Given the description of an element on the screen output the (x, y) to click on. 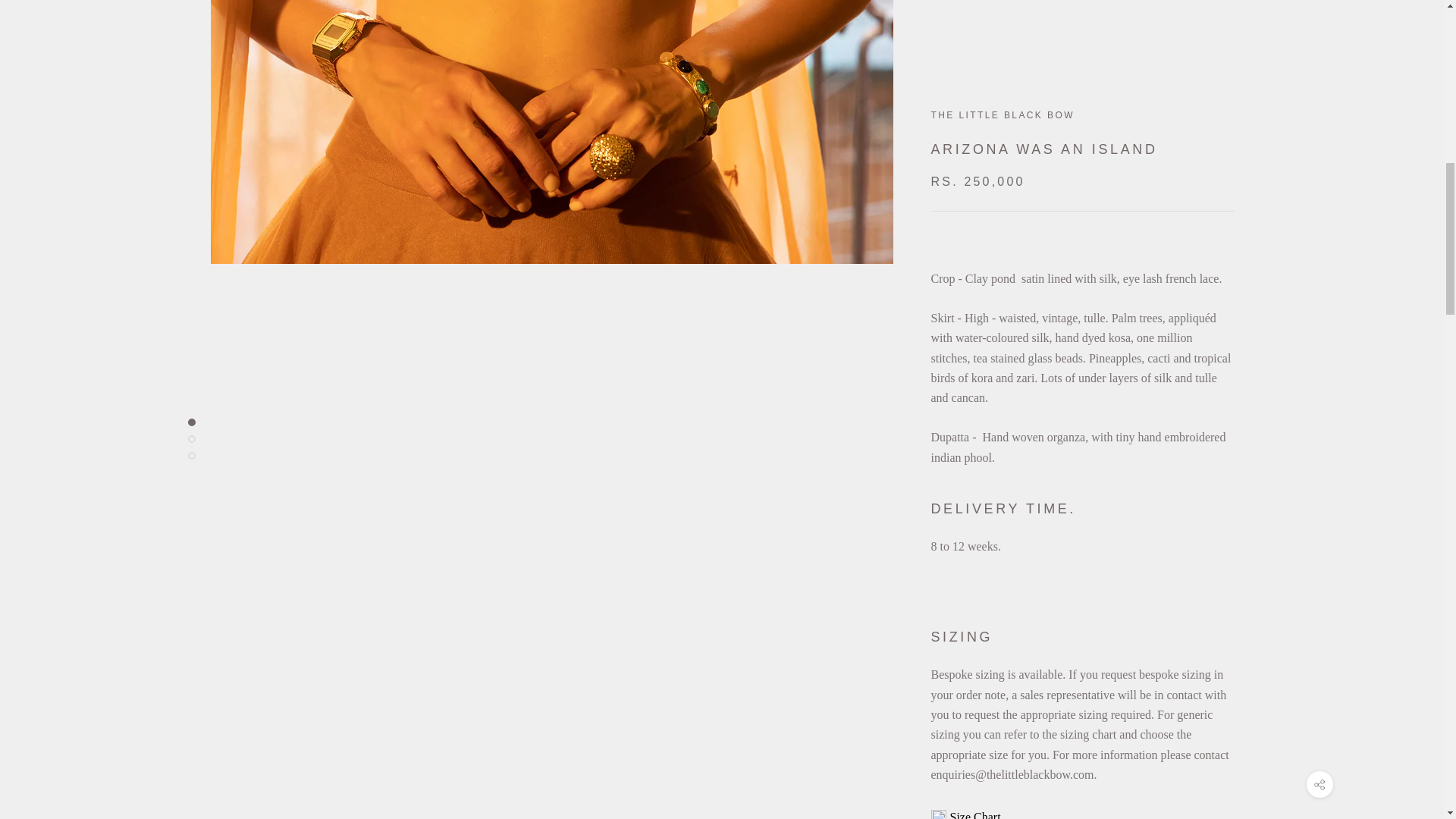
1 (984, 92)
